Given the description of an element on the screen output the (x, y) to click on. 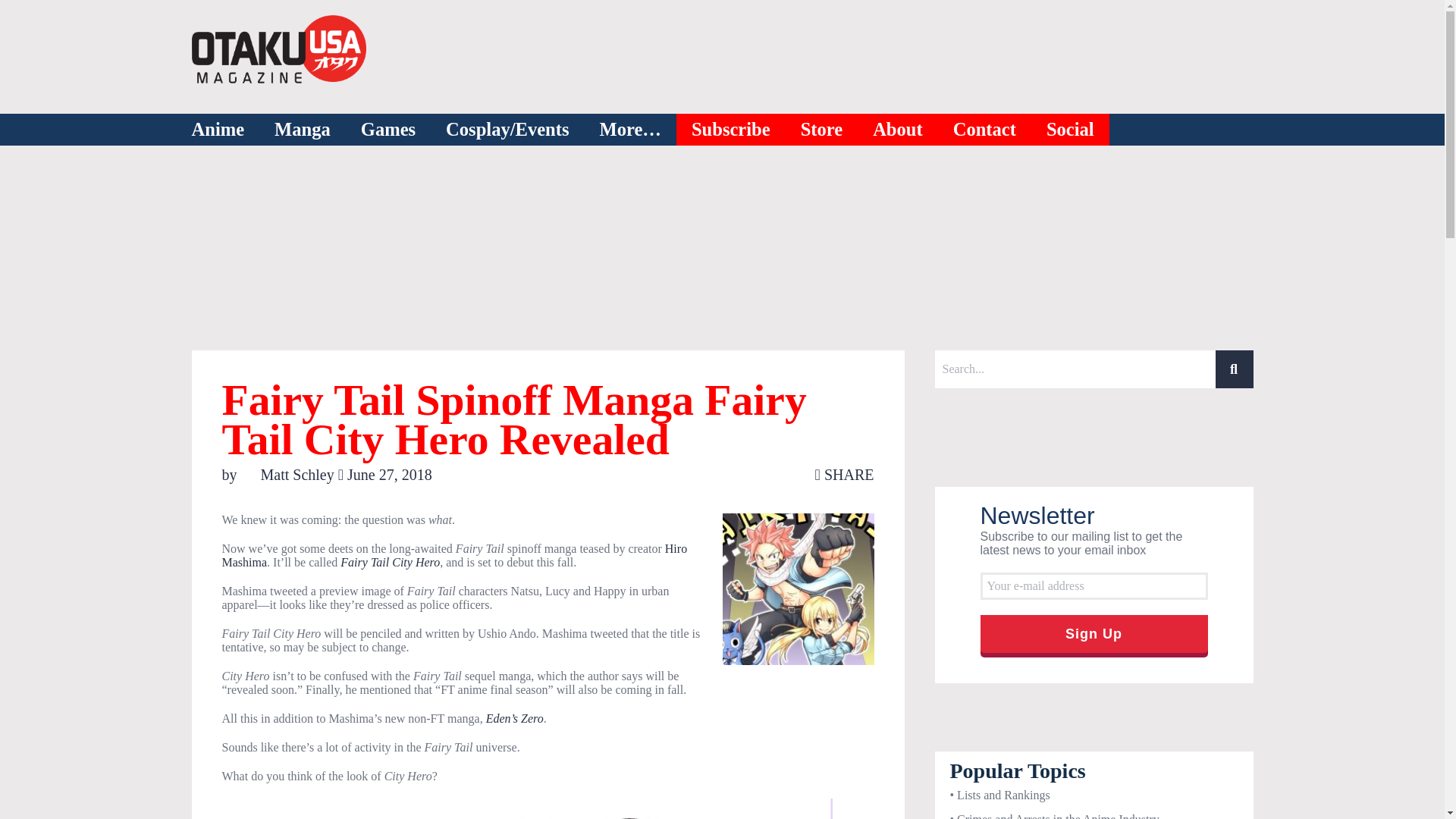
Games (387, 129)
Anime (217, 129)
Social (1070, 129)
Store (821, 129)
Sign Up (1093, 633)
About (897, 129)
Subscribe (730, 129)
Manga (302, 129)
SHARE (845, 474)
Contact (984, 129)
Matt Schley (288, 474)
Hiro Mashima (454, 555)
Fairy Tail City Hero (389, 562)
